Given the description of an element on the screen output the (x, y) to click on. 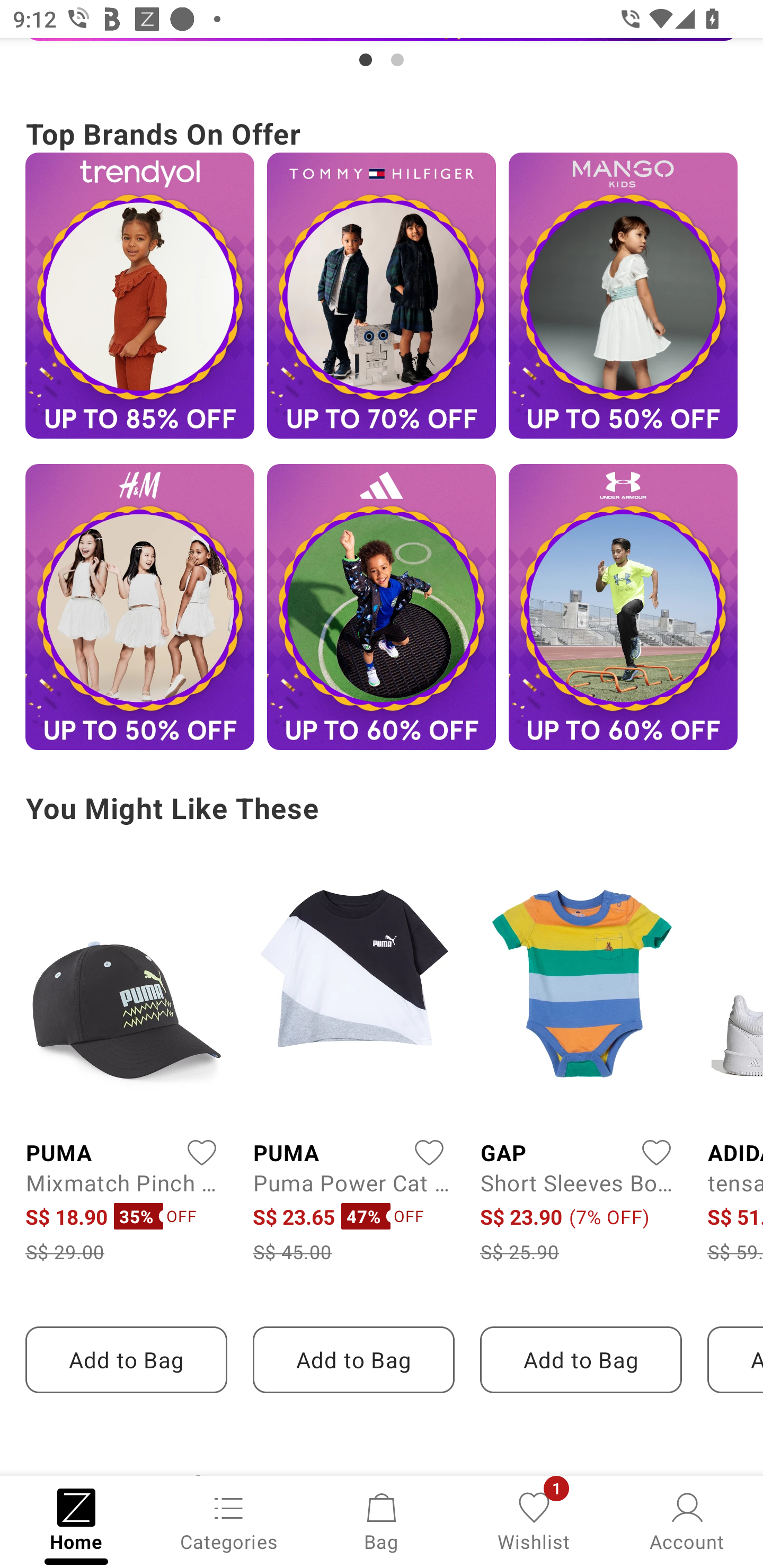
Campaign banner (381, 54)
Campaign banner (139, 295)
Campaign banner (381, 295)
Campaign banner (622, 295)
Campaign banner (139, 606)
Campaign banner (381, 606)
Campaign banner (622, 606)
Add to Bag (126, 1359)
Add to Bag (353, 1359)
Add to Bag (580, 1359)
Categories (228, 1519)
Bag (381, 1519)
Wishlist, 1 new notification Wishlist (533, 1519)
Account (686, 1519)
